Given the description of an element on the screen output the (x, y) to click on. 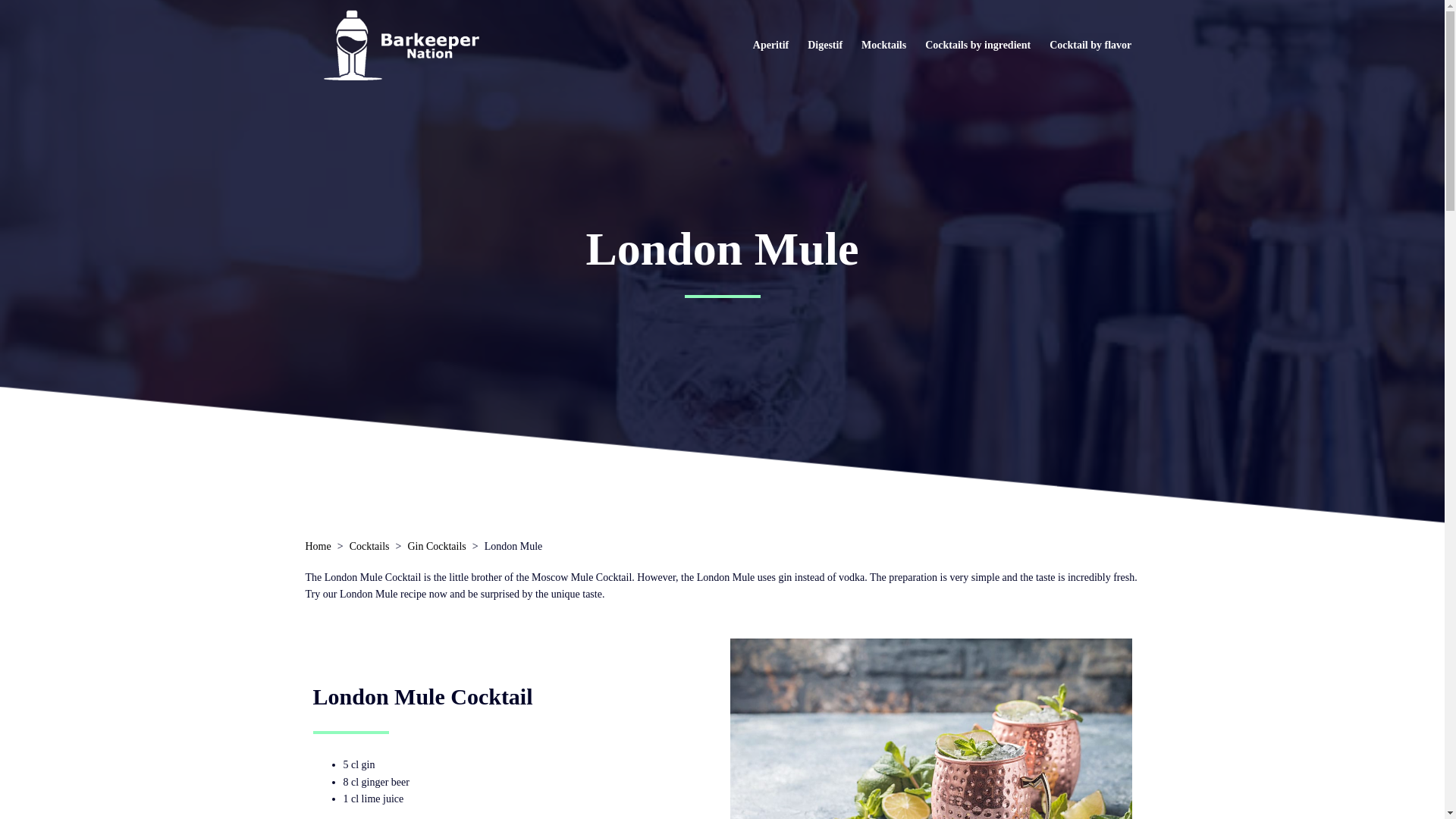
Gin Cocktails (436, 546)
Aperitif (770, 44)
Mocktails (883, 44)
Cocktails by ingredient (977, 44)
Home (317, 546)
Cocktails (369, 546)
Cocktail by flavor (1090, 44)
Digestif (824, 44)
